Given the description of an element on the screen output the (x, y) to click on. 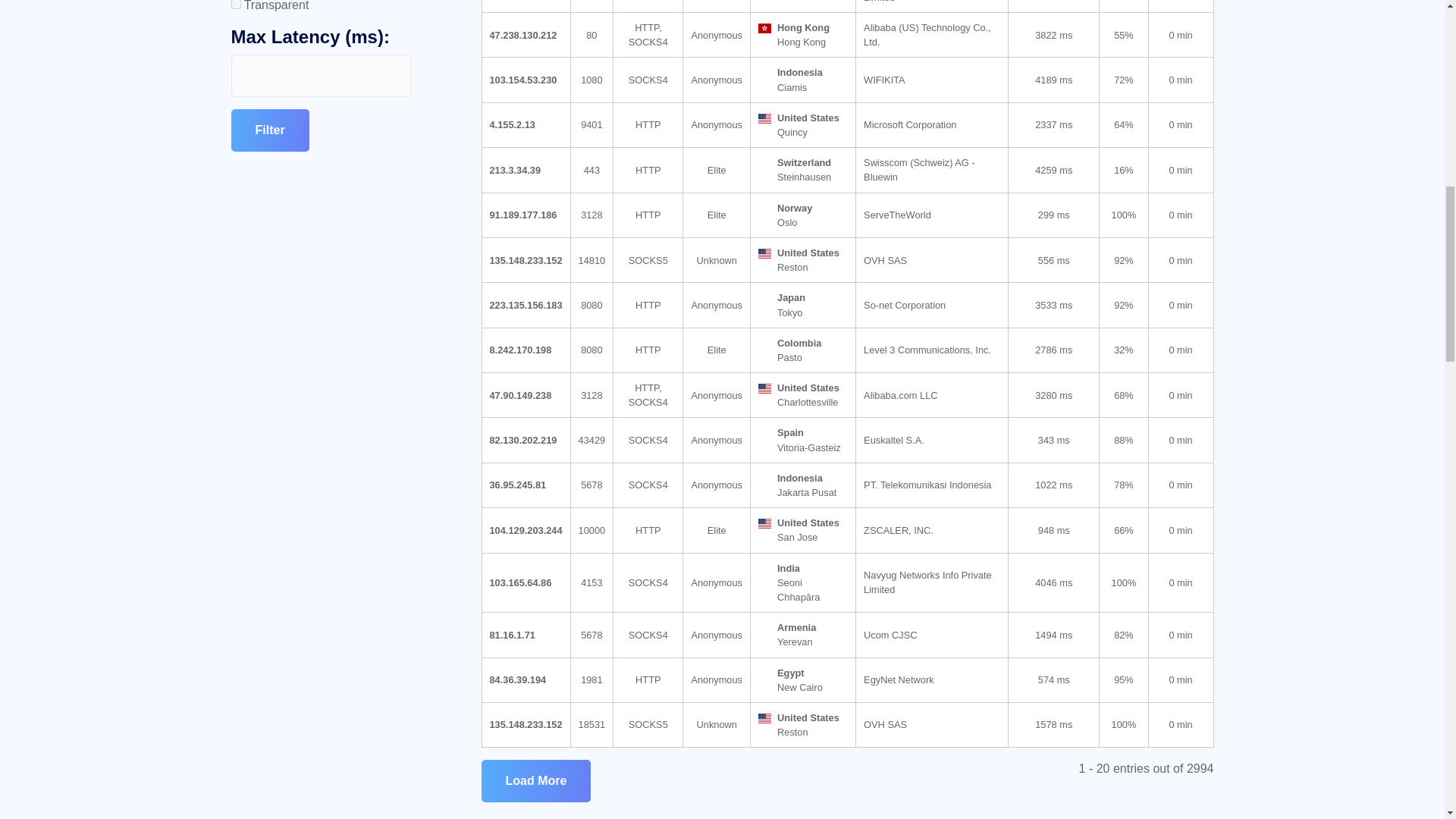
Transparent (235, 4)
